Given the description of an element on the screen output the (x, y) to click on. 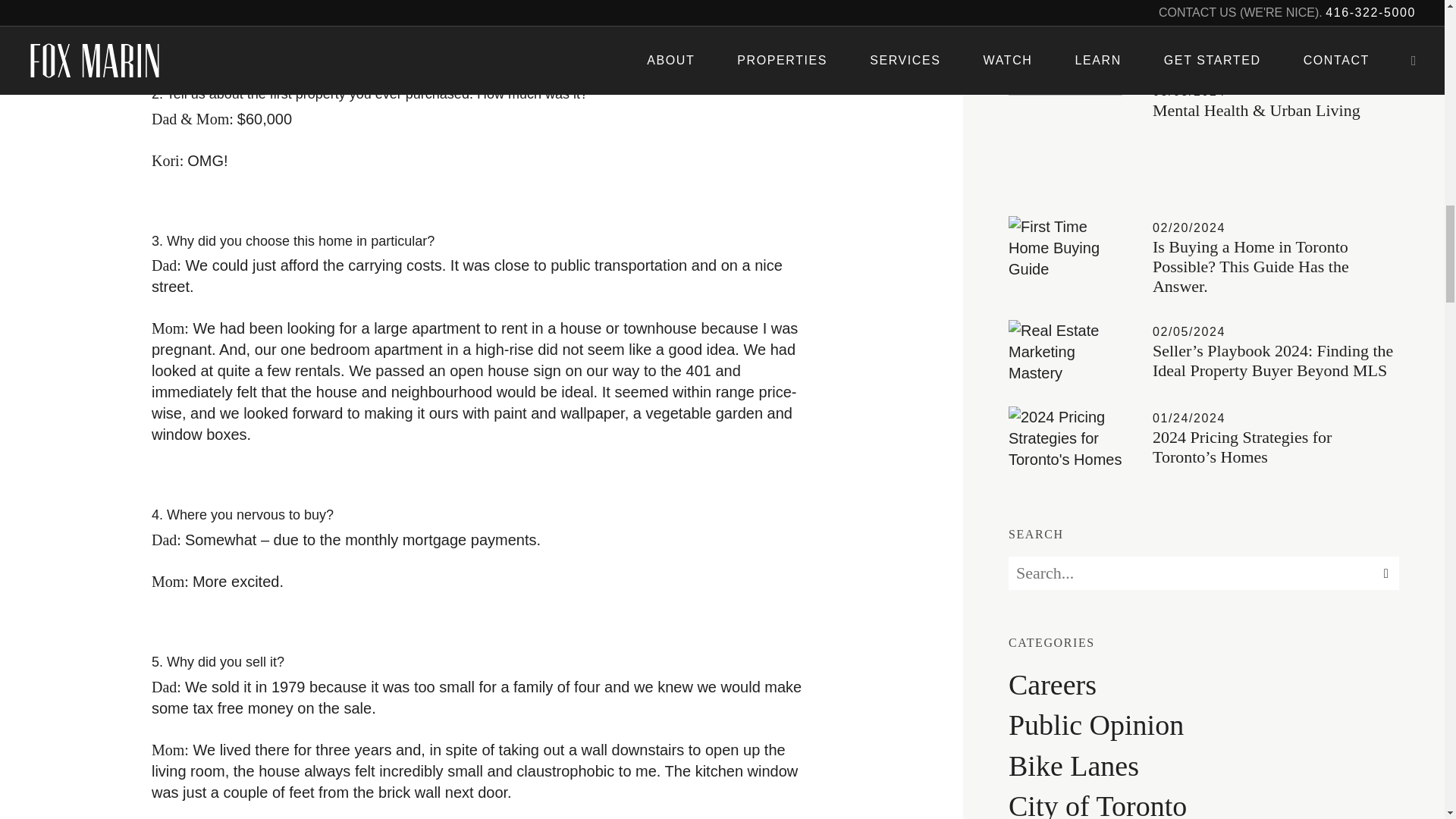
Search for: (1204, 572)
